Given the description of an element on the screen output the (x, y) to click on. 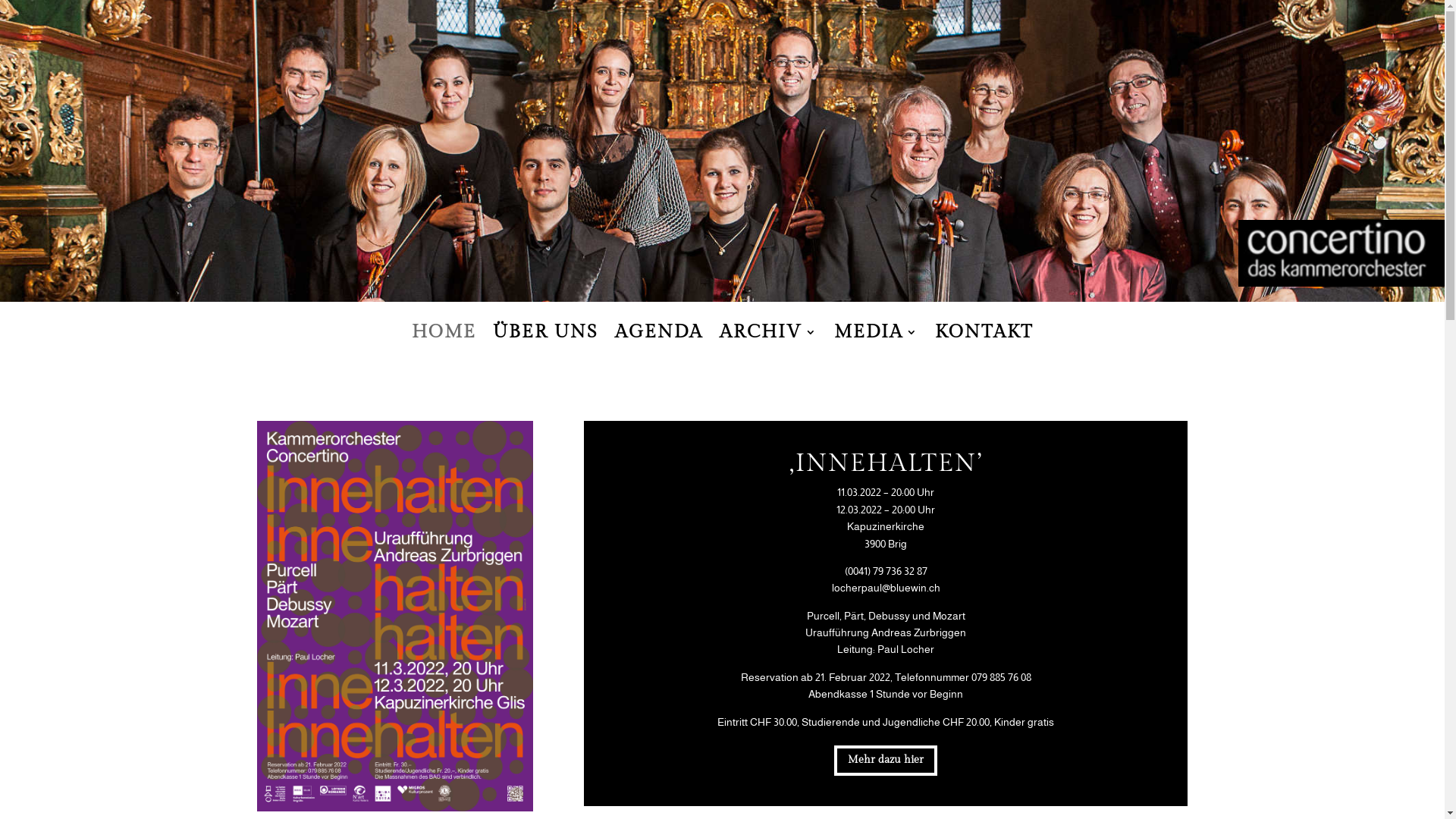
Mehr dazu hier Element type: text (885, 760)
CONCERTINO-INNEHALTEN-WEB Element type: hover (394, 615)
HOME Element type: text (443, 342)
MEDIA Element type: text (876, 342)
ARCHIV Element type: text (767, 342)
AGENDA Element type: text (658, 342)
KONTAKT Element type: text (983, 342)
